Given the description of an element on the screen output the (x, y) to click on. 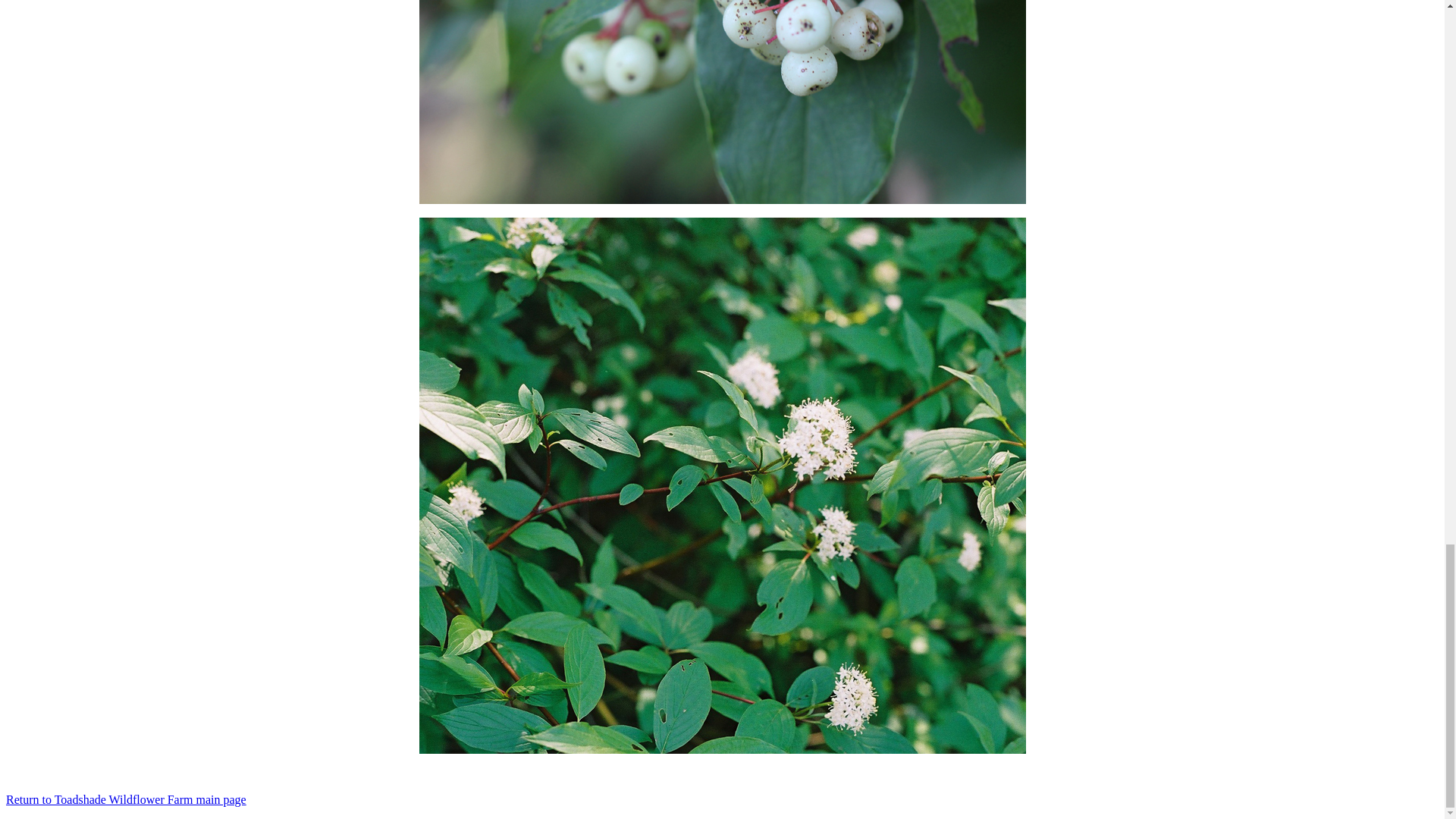
Return to Toadshade Wildflower Farm main page (125, 799)
